Given the description of an element on the screen output the (x, y) to click on. 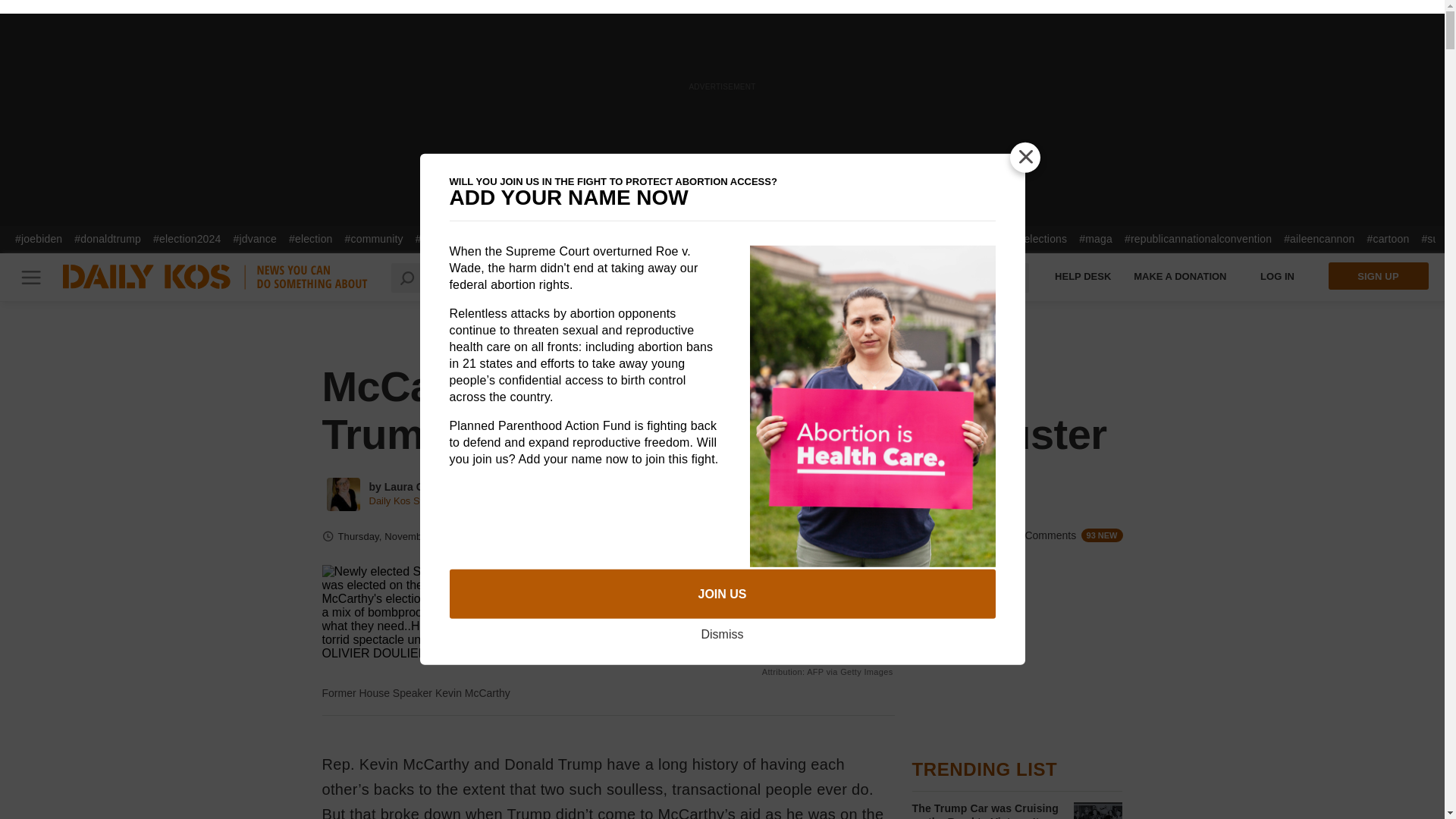
WILL YOU JOIN US IN THE FIGHT TO PROTECT ABORTION ACCESS? (721, 181)
JOIN US (721, 594)
JOIN US (721, 594)
ADD YOUR NAME NOW (721, 197)
Help Desk (1082, 275)
Make a Donation (1179, 275)
Dismiss (721, 634)
